Given the description of an element on the screen output the (x, y) to click on. 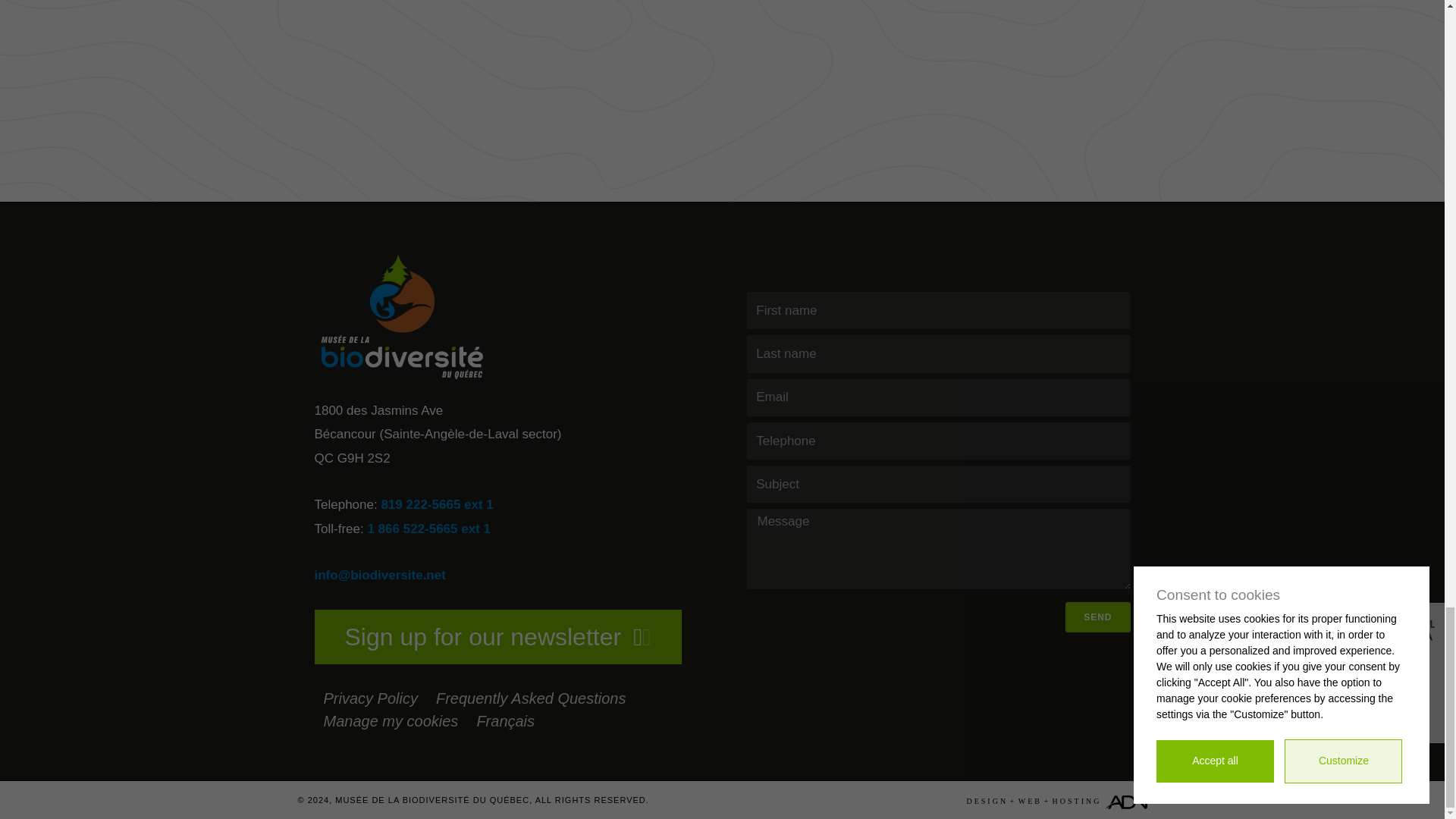
Frequently Asked Questions (530, 698)
1 866 522-5665 ext 1 (428, 528)
Manage my cookies (390, 721)
Sign up for our newsletter (497, 636)
819 222-5665 ext 1 (436, 504)
Privacy Policy (370, 698)
